Given the description of an element on the screen output the (x, y) to click on. 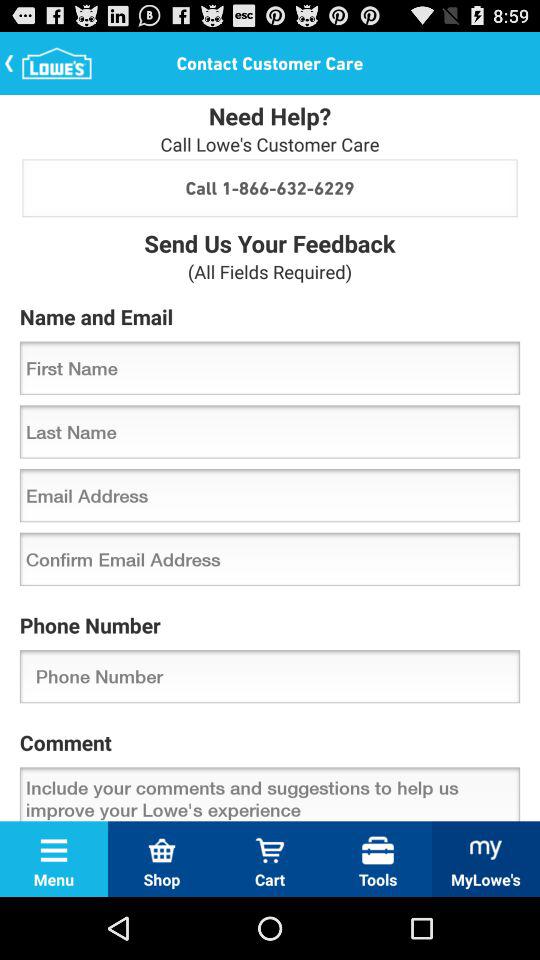
click the app above phone number (269, 558)
